Given the description of an element on the screen output the (x, y) to click on. 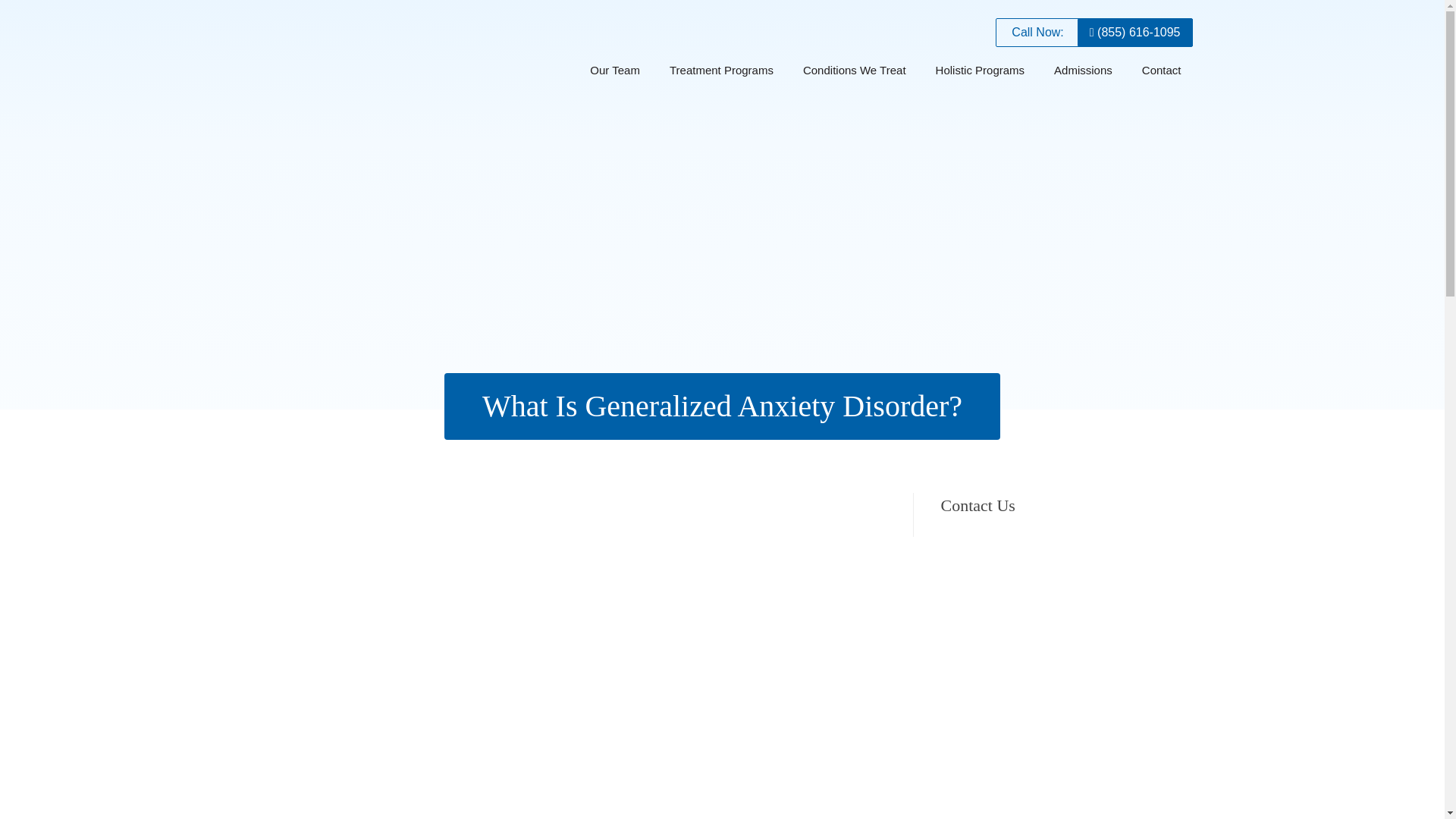
Conditions We Treat (854, 71)
logo (371, 45)
Our Team (614, 71)
Treatment Programs (721, 71)
